Given the description of an element on the screen output the (x, y) to click on. 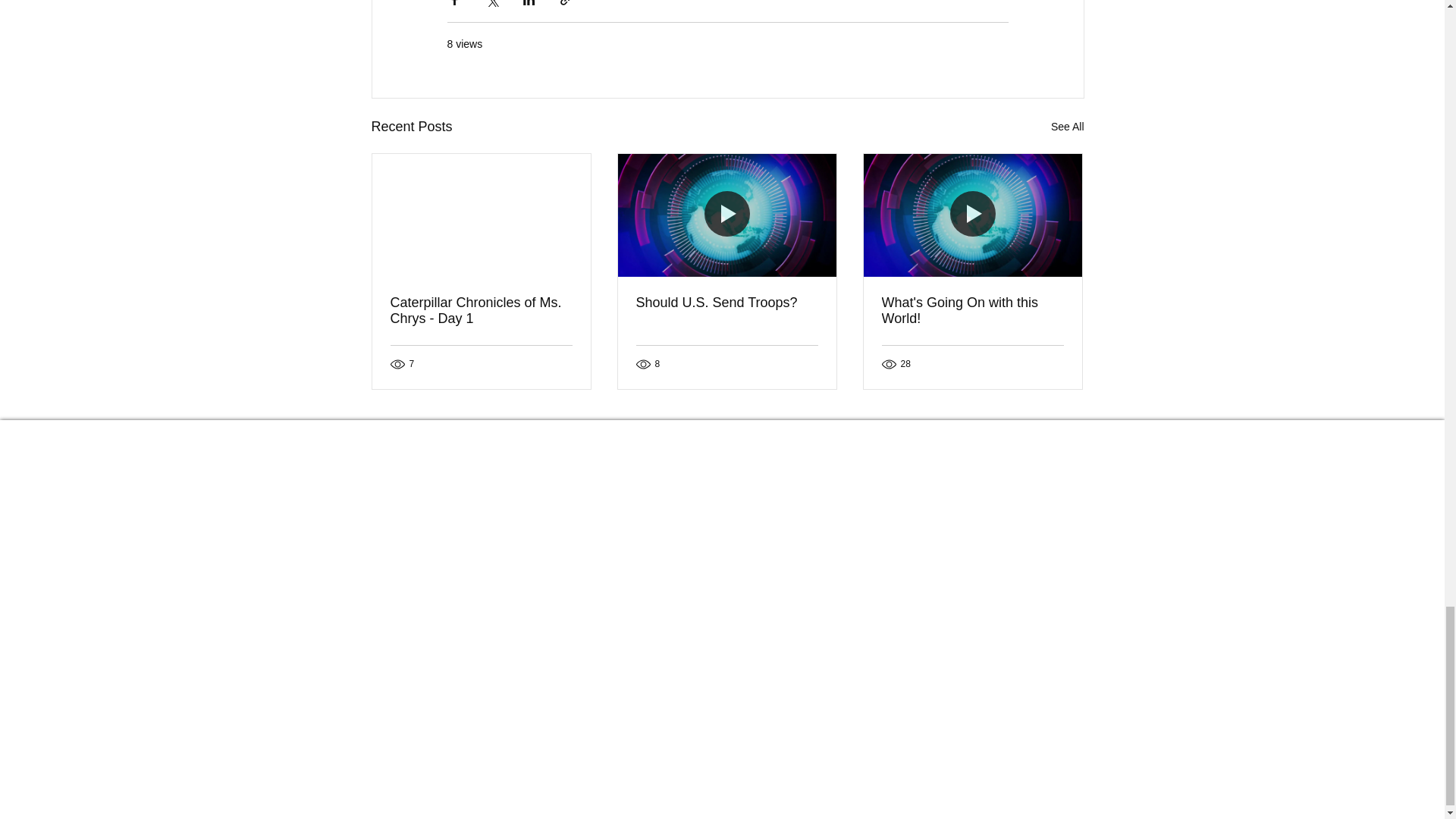
Caterpillar Chronicles of Ms. Chrys - Day 1 (481, 310)
See All (1067, 127)
What's Going On with this World! (971, 310)
Should U.S. Send Troops? (725, 302)
